Given the description of an element on the screen output the (x, y) to click on. 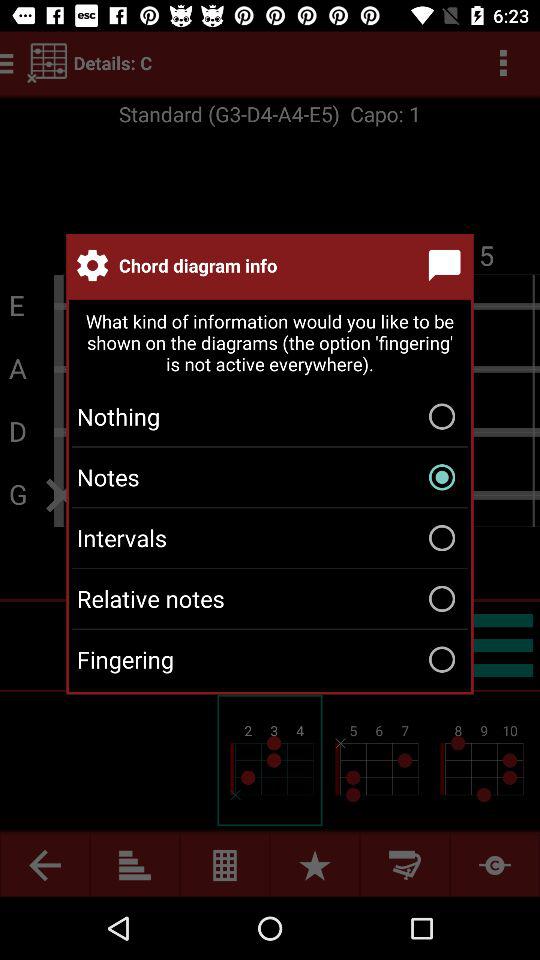
launch icon above the notes icon (269, 416)
